Given the description of an element on the screen output the (x, y) to click on. 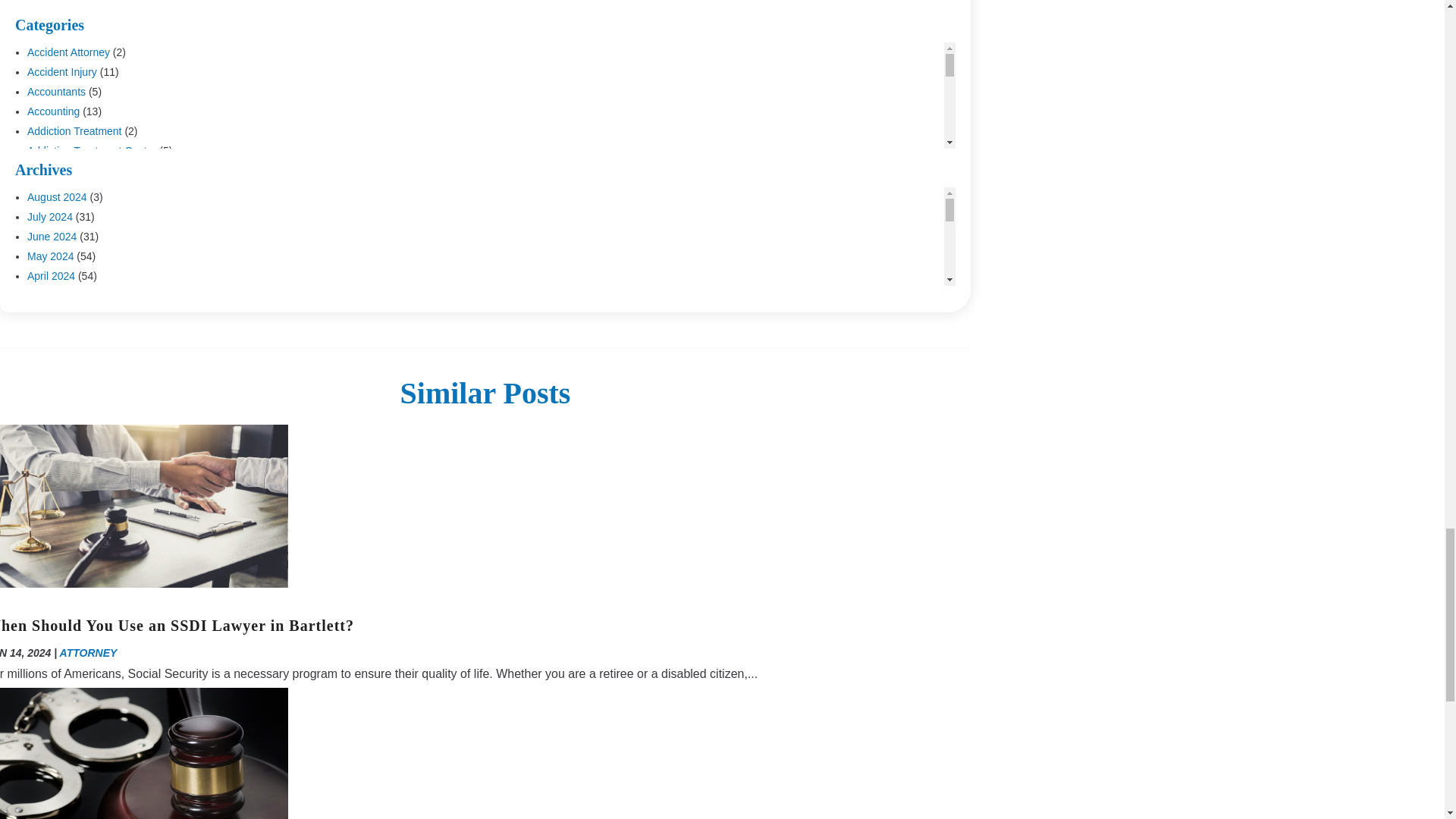
Accident Injury (62, 71)
Accountants (56, 91)
Addiction Treatment Support (94, 170)
Addiction Treatment (74, 131)
Addiction Treatment Center (91, 150)
Accident Attorney (68, 51)
Accounting (53, 111)
